Given the description of an element on the screen output the (x, y) to click on. 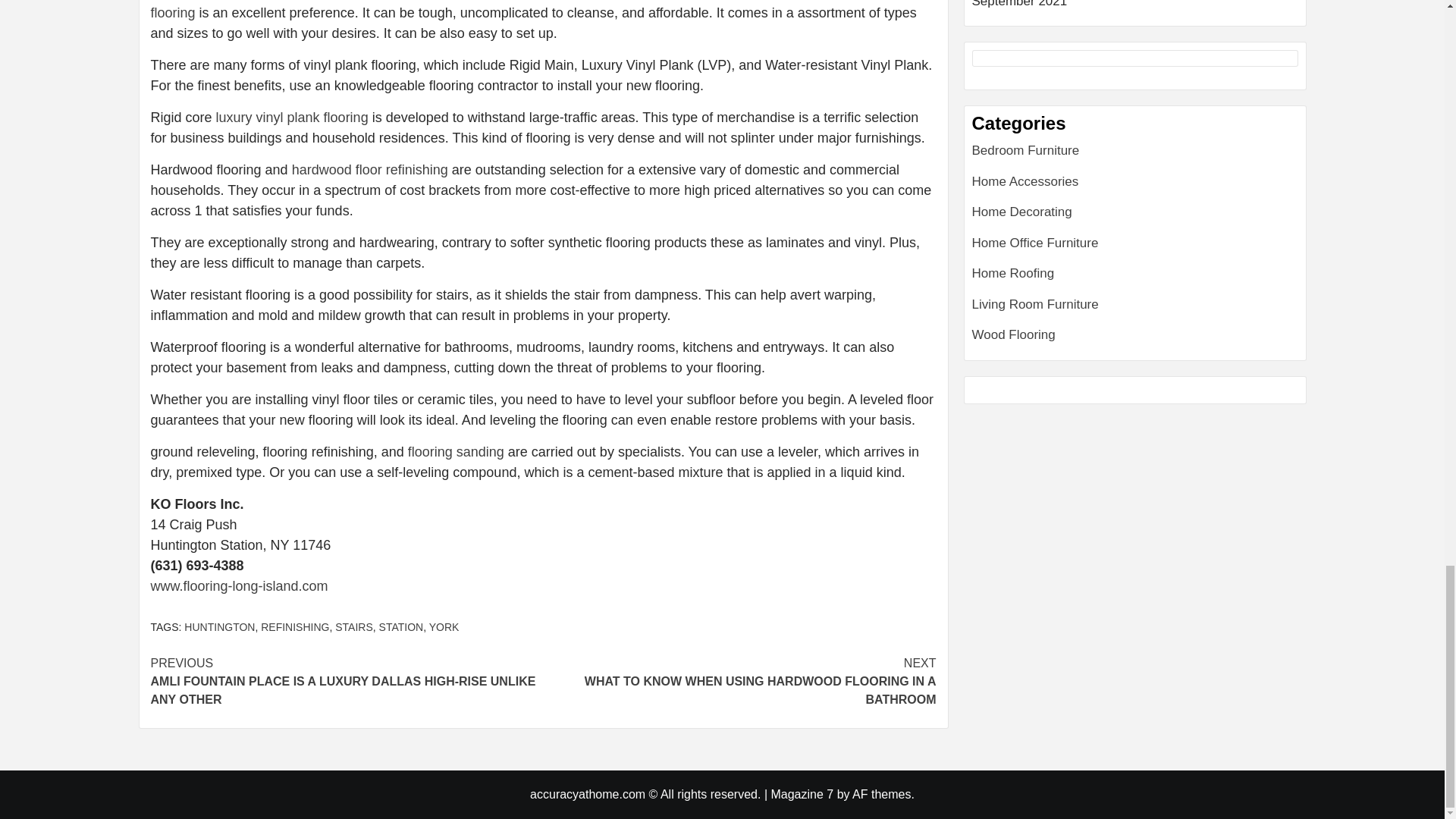
flooring sanding (455, 451)
hardwood floor refinishing (370, 169)
luxury vinyl plank flooring (291, 117)
www.flooring-long-island.com (238, 585)
STAIRS (353, 626)
YORK (444, 626)
HUNTINGTON (219, 626)
vinyl sheet flooring (525, 10)
REFINISHING (294, 626)
STATION (739, 681)
